Given the description of an element on the screen output the (x, y) to click on. 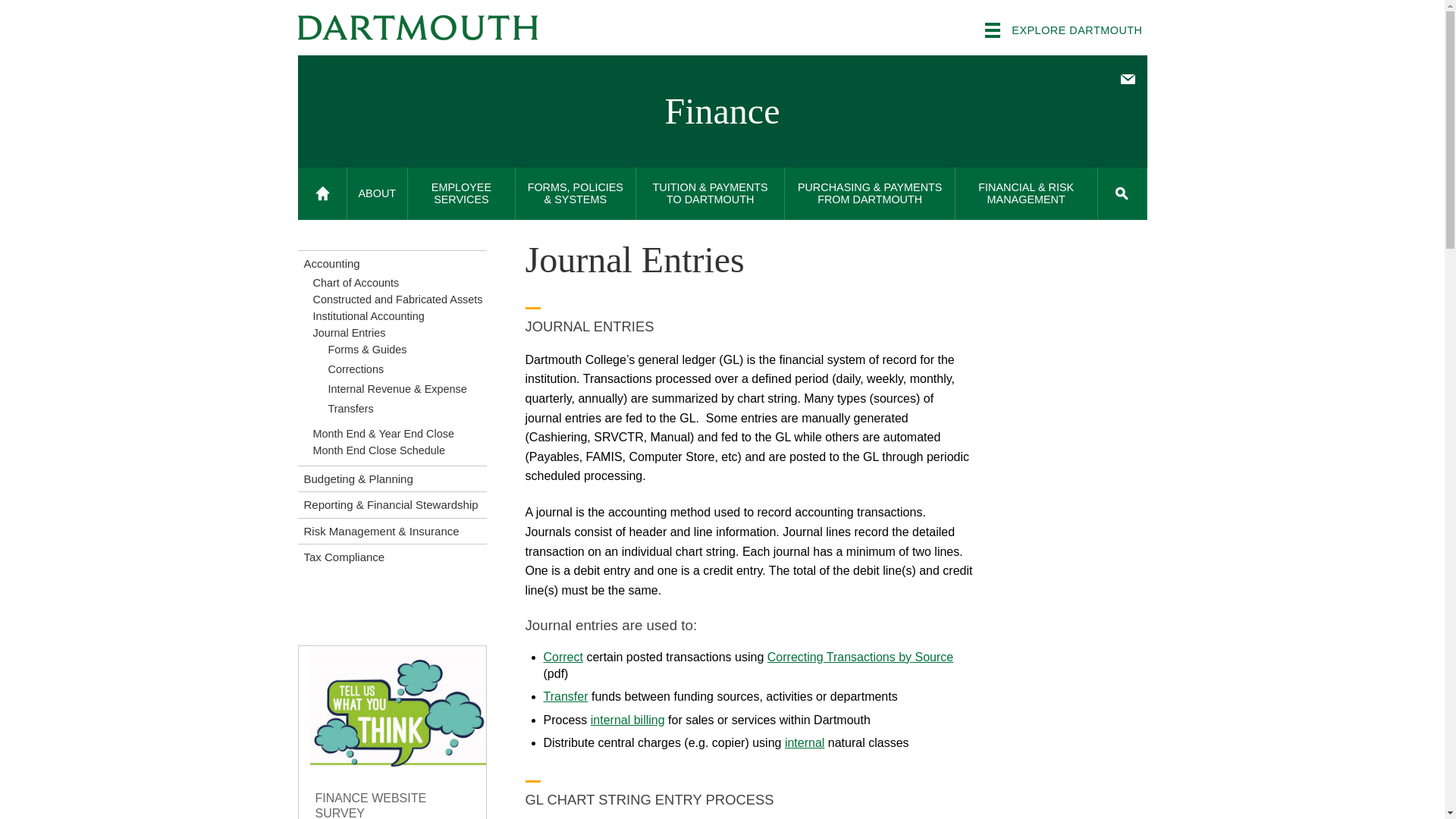
ABOUT (377, 193)
Mail (1127, 78)
Dartmouth College (417, 27)
HOME (321, 193)
EXPLORE DARTMOUTH (1063, 29)
We want to hear from you! (392, 732)
